Given the description of an element on the screen output the (x, y) to click on. 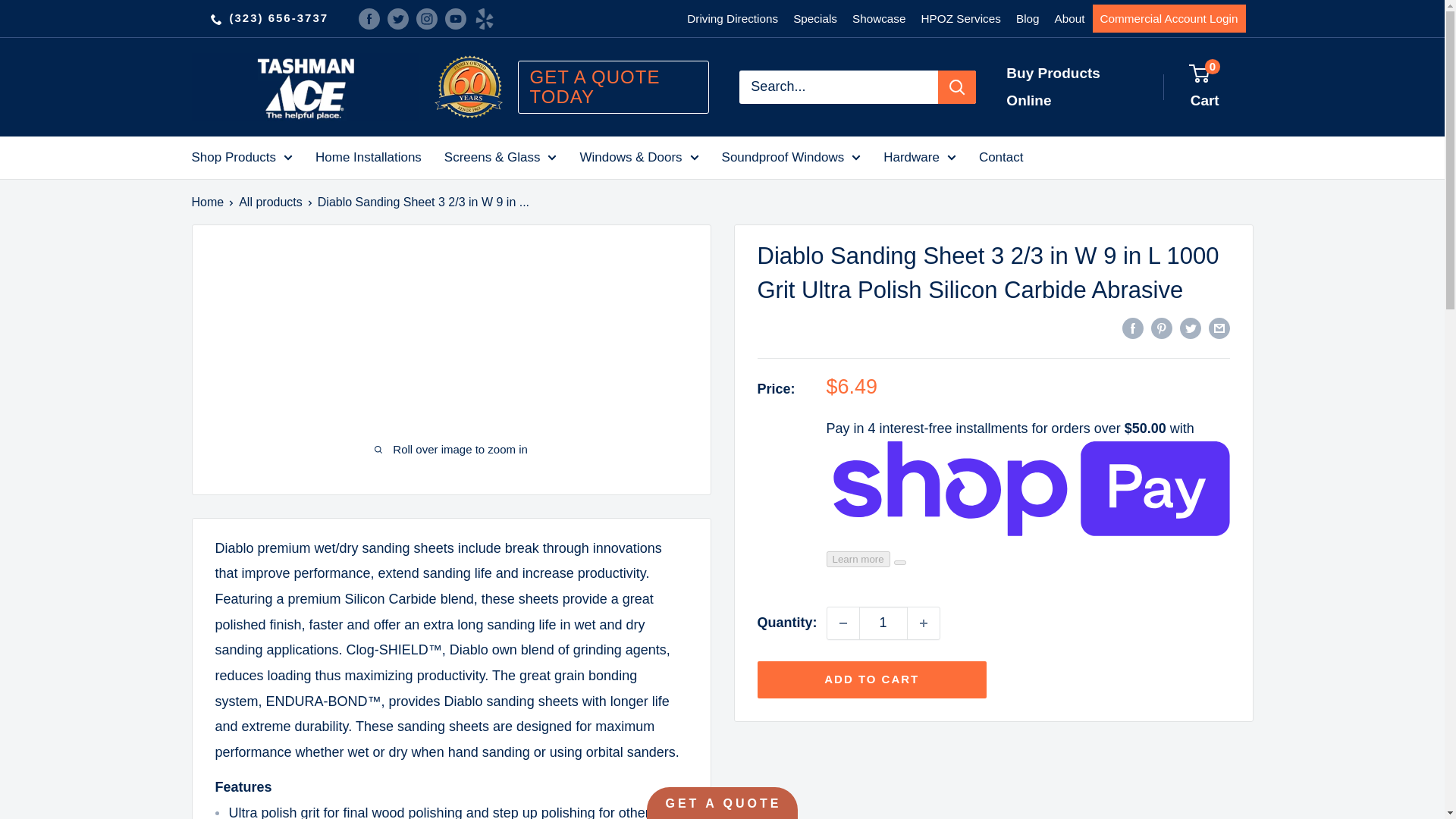
Commercial Account Login (1169, 18)
Driving Directions (732, 18)
HPOZ Services (961, 18)
Showcase (879, 18)
Blog (1027, 18)
About (1069, 18)
Decrease quantity by 1 (843, 623)
Increase quantity by 1 (923, 623)
Specials (815, 18)
1 (883, 623)
